Given the description of an element on the screen output the (x, y) to click on. 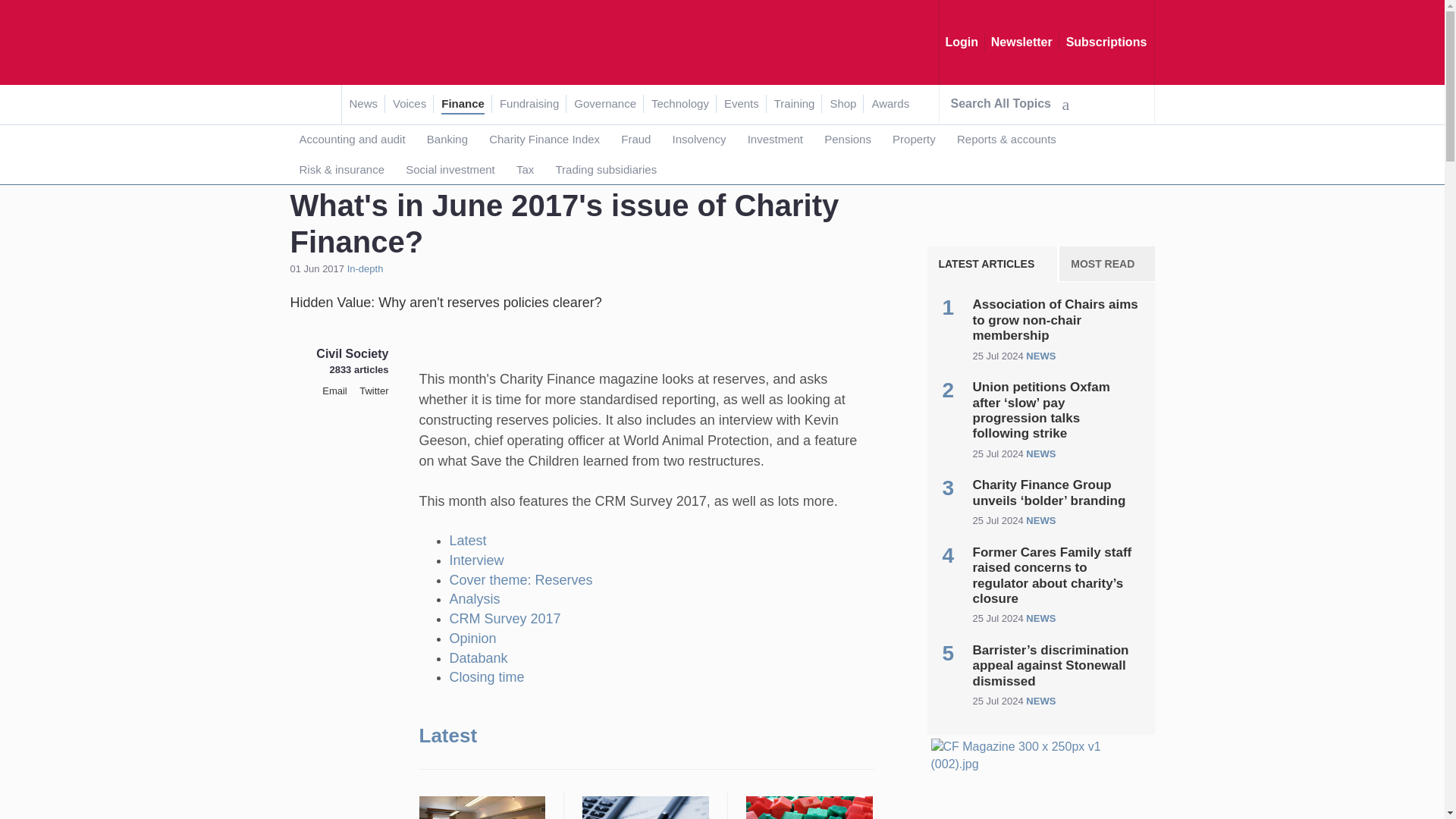
Insolvency (699, 139)
Subscriptions (1105, 42)
Latest (467, 540)
Accounting and audit (351, 139)
Events (740, 104)
Property (914, 139)
News (363, 104)
Fraud (635, 139)
Pensions (847, 139)
Governance (604, 104)
Training (794, 104)
Investment (775, 139)
Finance (375, 143)
Trading subsidiaries (605, 169)
Tax (525, 169)
